Given the description of an element on the screen output the (x, y) to click on. 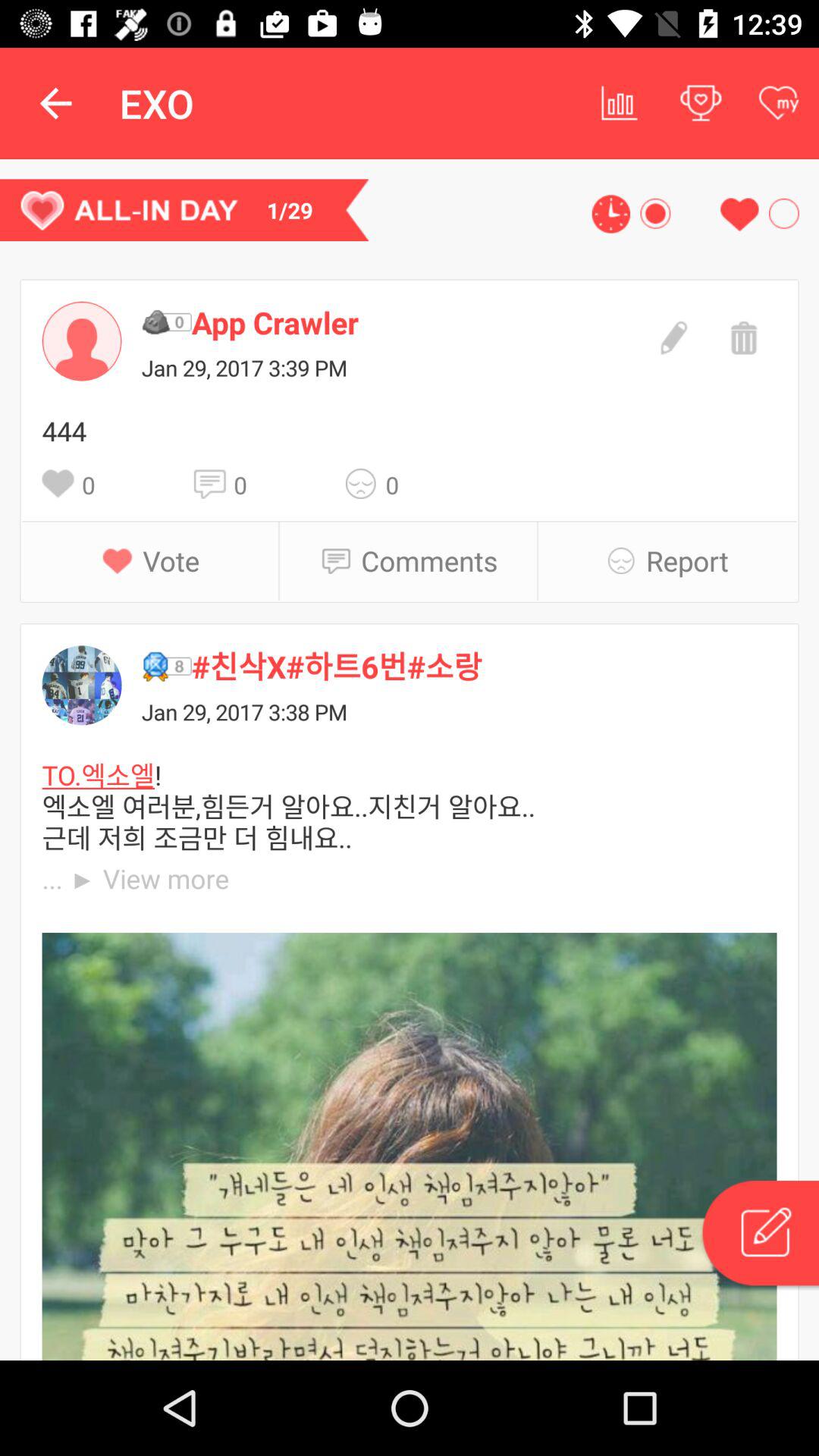
delete option (741, 336)
